Given the description of an element on the screen output the (x, y) to click on. 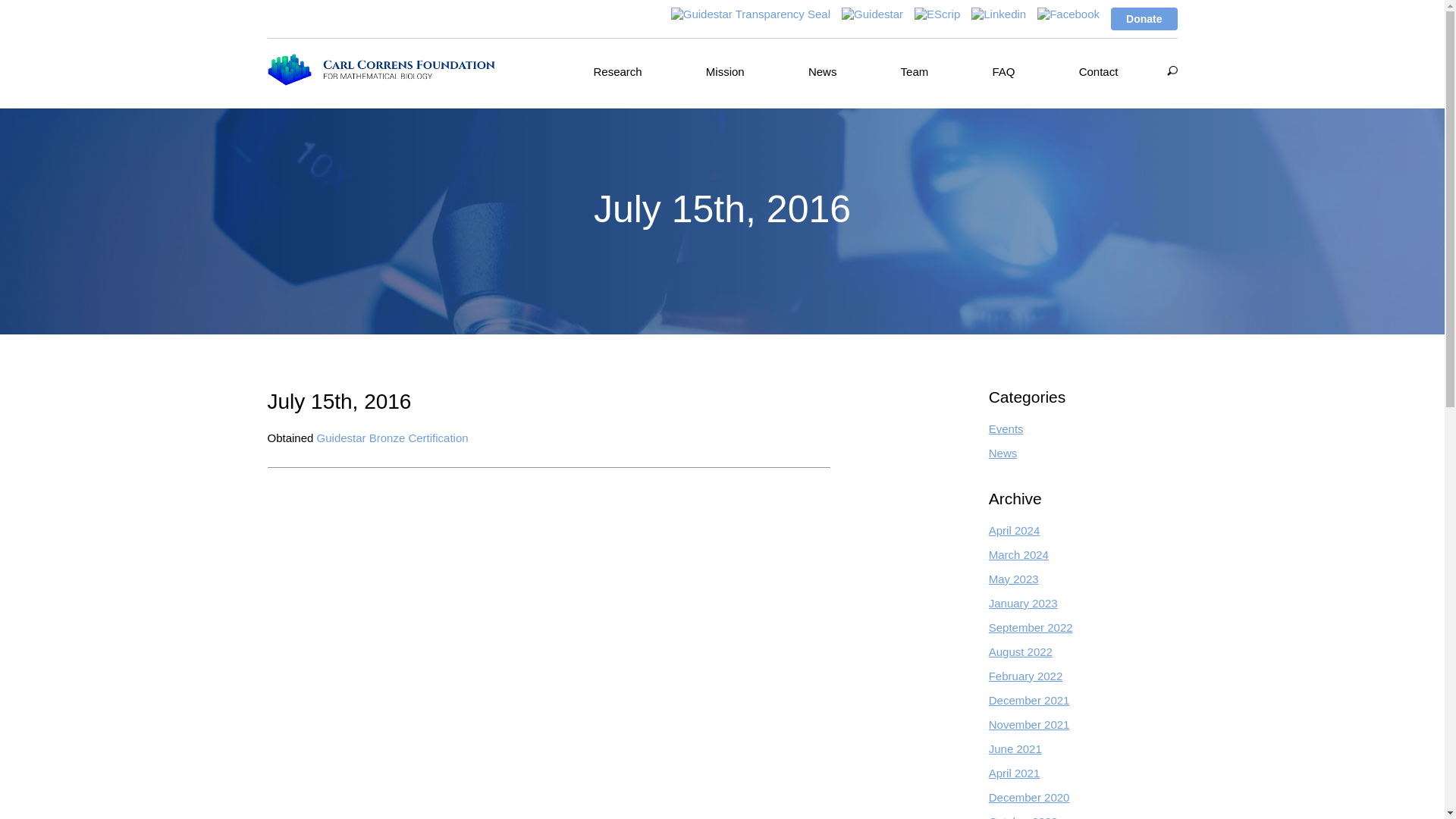
Events (1005, 428)
April 2024 (1014, 530)
Team (914, 71)
Guidestar Bronze Certification (392, 437)
Mission (725, 71)
Donate (1143, 18)
May 2023 (1013, 578)
News (1002, 452)
March 2024 (1018, 554)
June 2021 (1015, 748)
January 2023 (1023, 603)
FAQ (1002, 71)
August 2022 (1020, 651)
September 2022 (1030, 626)
Silver Transparency Award (750, 13)
